Given the description of an element on the screen output the (x, y) to click on. 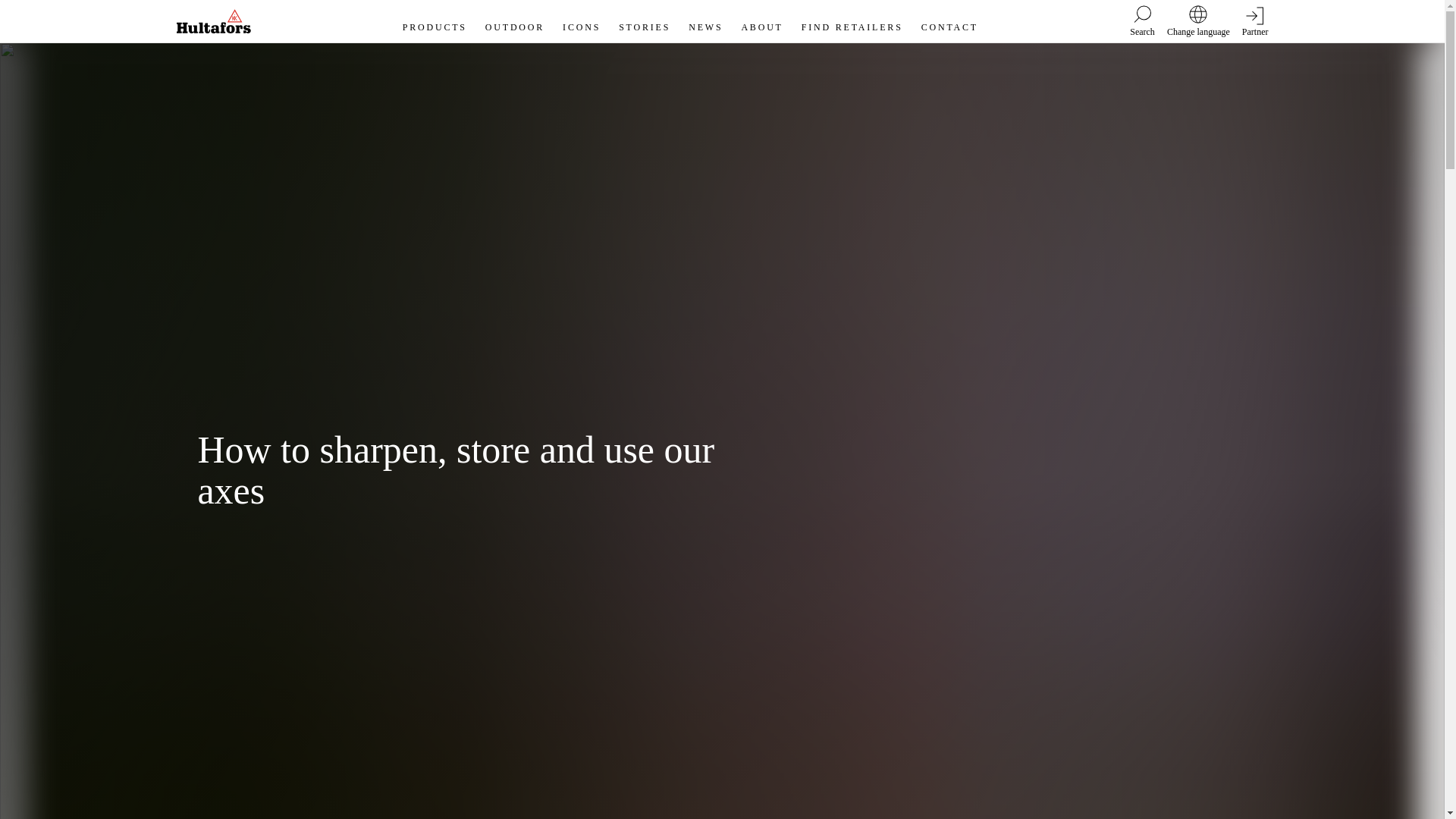
NEWS (705, 20)
ABOUT (762, 20)
FIND RETAILERS (852, 20)
OUTDOOR (514, 20)
ICONS (580, 20)
PRODUCTS (435, 20)
CONTACT (949, 20)
STORIES (643, 20)
